Given the description of an element on the screen output the (x, y) to click on. 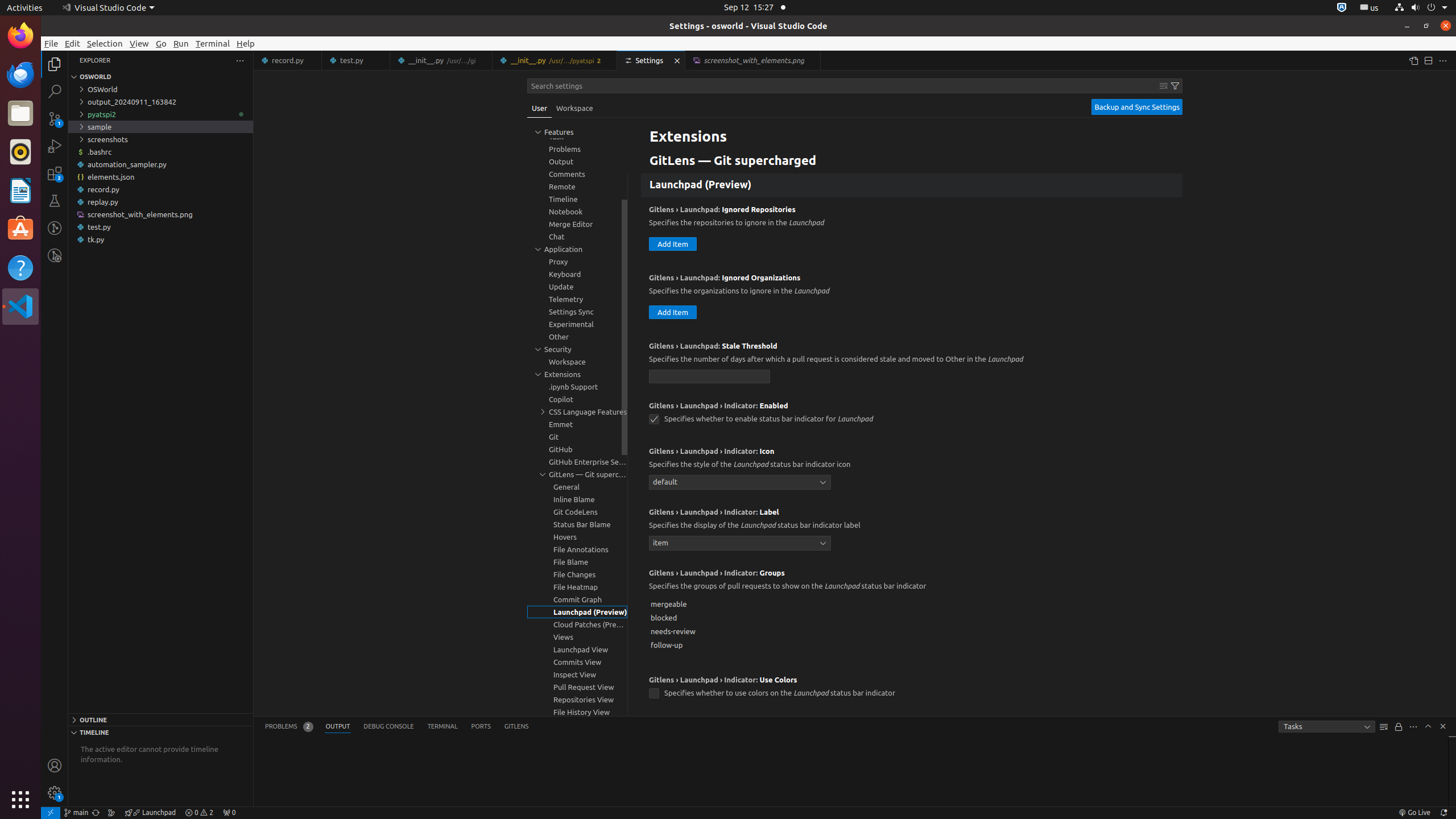
screenshots Element type: tree-item (160, 139)
Launchpad (Preview) Element type: tree-item (911, 185)
GitLens Element type: page-tab (516, 726)
